Given the description of an element on the screen output the (x, y) to click on. 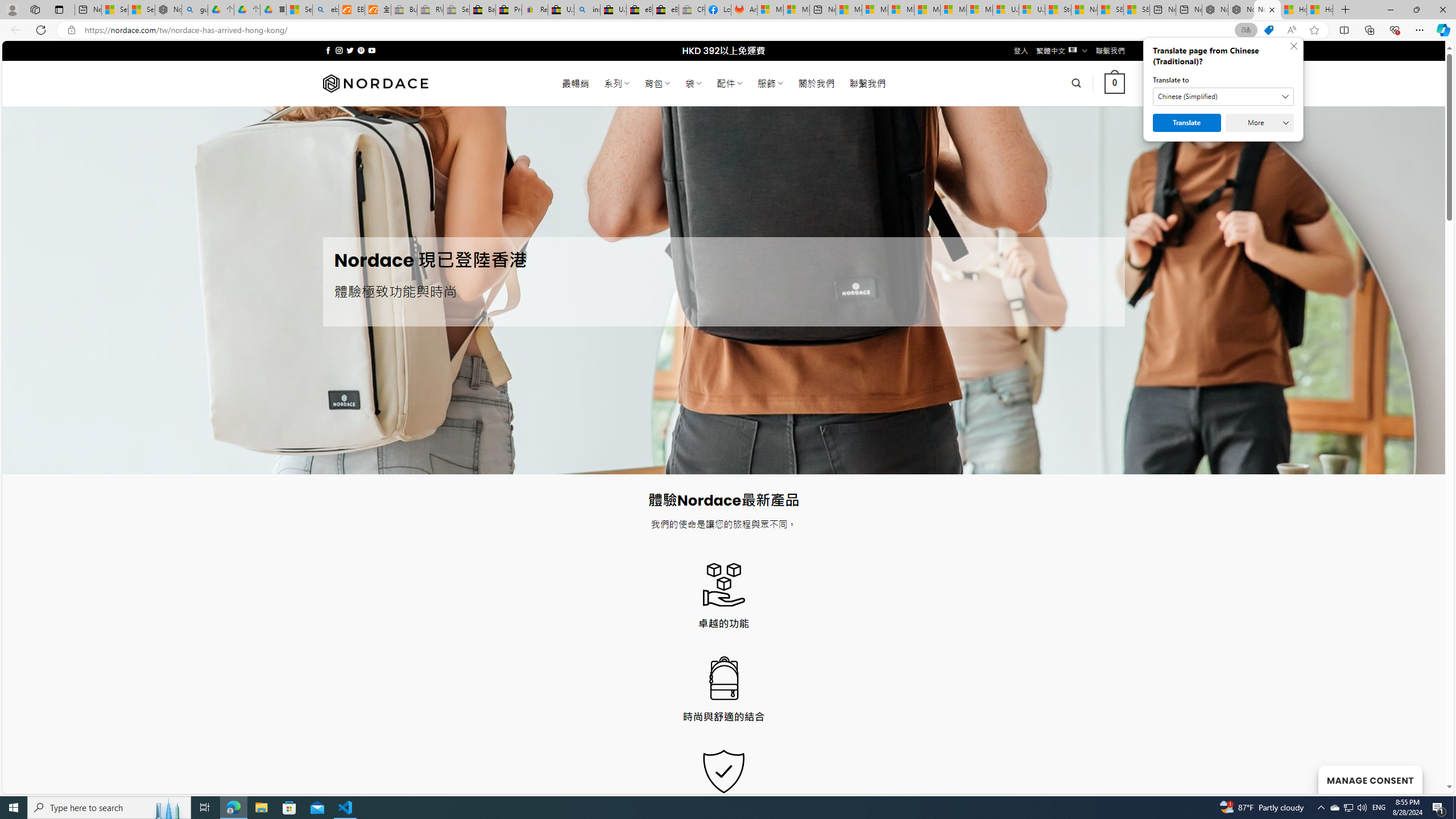
Follow on YouTube (371, 50)
Register: Create a personal eBay account (534, 9)
Microsoft account | Home (900, 9)
Sell worldwide with eBay - Sleeping (456, 9)
